Given the description of an element on the screen output the (x, y) to click on. 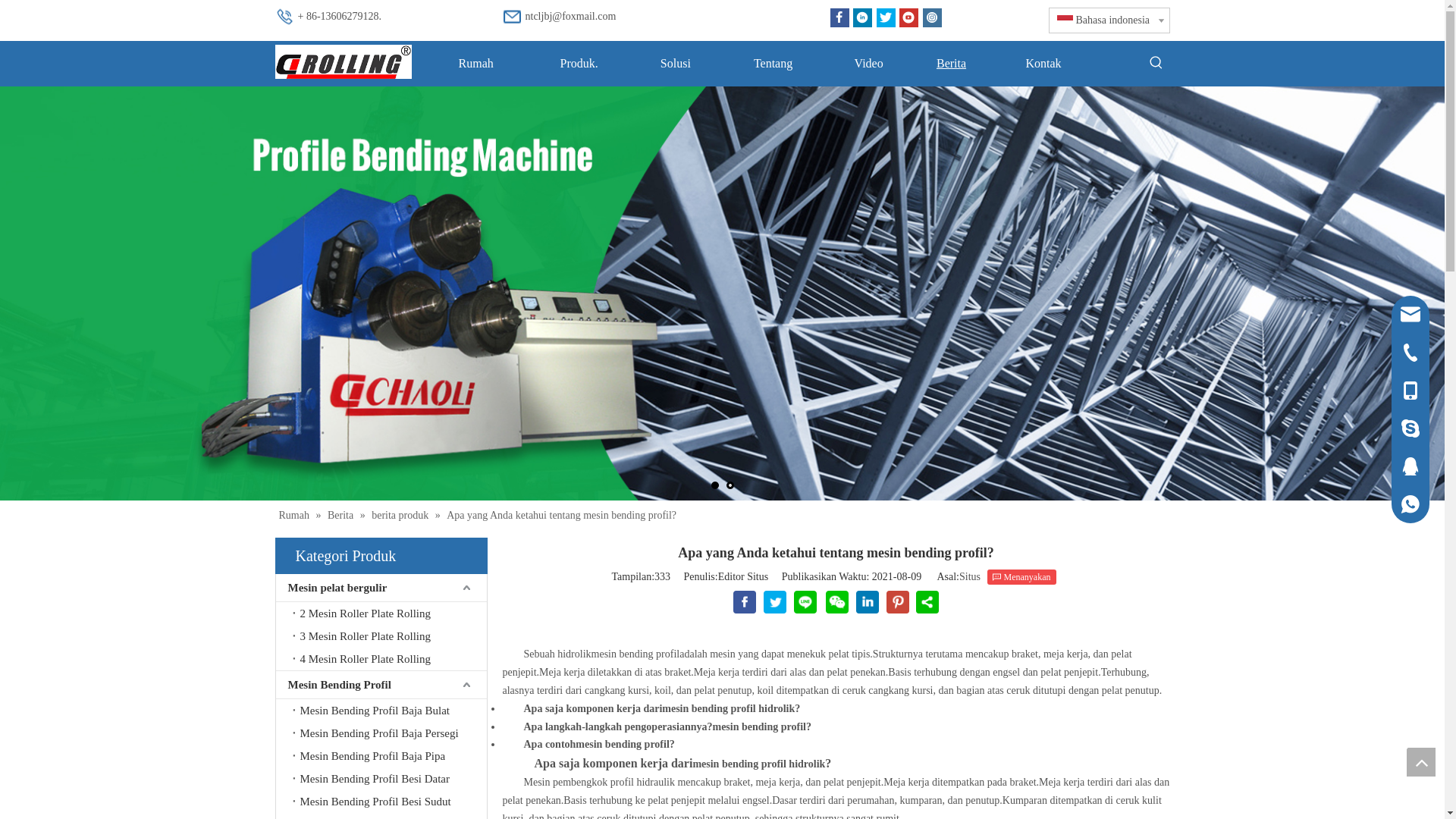
Mesin pelat bergulir Element type: text (381, 588)
Kontak Element type: text (1043, 63)
Mesin Bending Profil Baja Pipa Element type: text (389, 755)
Linkedin Element type: hover (862, 17)
3 Mesin Roller Plate Rolling Element type: text (389, 635)
Situs Element type: text (969, 576)
top Element type: text (1420, 761)
mesin bending profil Element type: text (635, 653)
Rumah Element type: text (295, 514)
Facebook Element type: hover (838, 17)
Menanyakan Element type: text (1022, 576)
Rumah Element type: text (475, 63)
Mesin Bending Profil Besi Datar Element type: text (389, 778)
2 Mesin Roller Plate Rolling Element type: text (389, 613)
Instagram Element type: hover (931, 17)
Mesin Bending Profil Element type: text (381, 684)
Youtube Element type: hover (908, 17)
mesin bending profil hidrolik Element type: text (758, 763)
Solusi Element type: text (675, 63)
Berita Element type: text (341, 514)
Mesin Bending Profil Besi Sudut Element type: text (389, 801)
ntcljbj@foxmail.com Element type: text (569, 15)
berita produk Element type: text (401, 514)
Mesin Bending Profil Baja Persegi Element type: text (389, 732)
Video Element type: text (869, 63)
Twitter Element type: hover (885, 17)
Mesin Bending Profil Baja Bulat Element type: text (389, 710)
Tentang Element type: text (773, 63)
Produk. Element type: text (579, 63)
4 Mesin Roller Plate Rolling Element type: text (389, 658)
Berita Element type: text (950, 63)
